Given the description of an element on the screen output the (x, y) to click on. 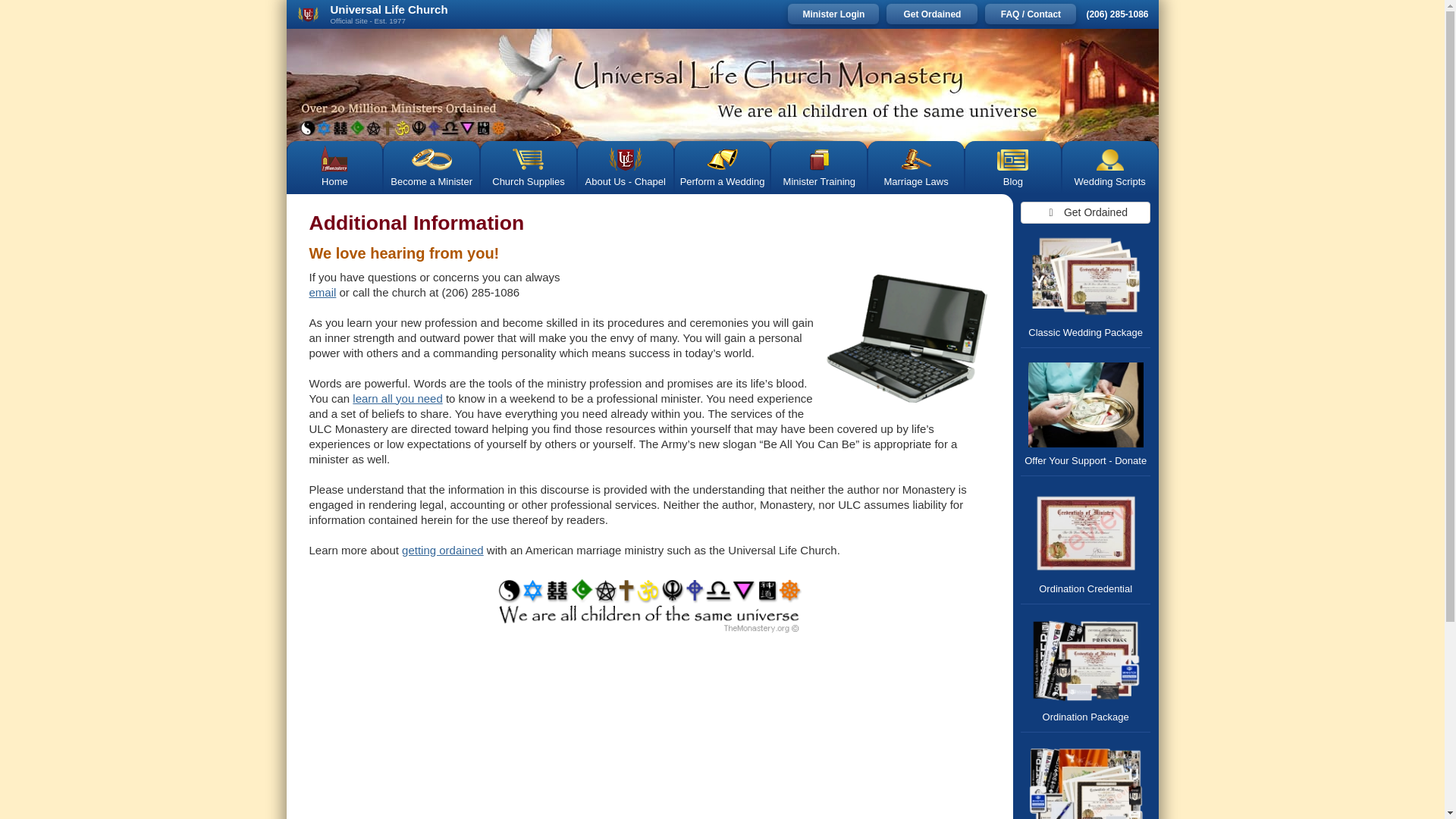
getting ordained (442, 549)
Performing a Wedding (722, 167)
Universal Life Church Guide to Divinity (649, 607)
Wedding Scripts (1109, 167)
email (322, 291)
Ordination Package (1085, 668)
Minister Training (818, 167)
Get Ordained (931, 14)
Ministry Products and Supplies for Ministers (528, 167)
